Given the description of an element on the screen output the (x, y) to click on. 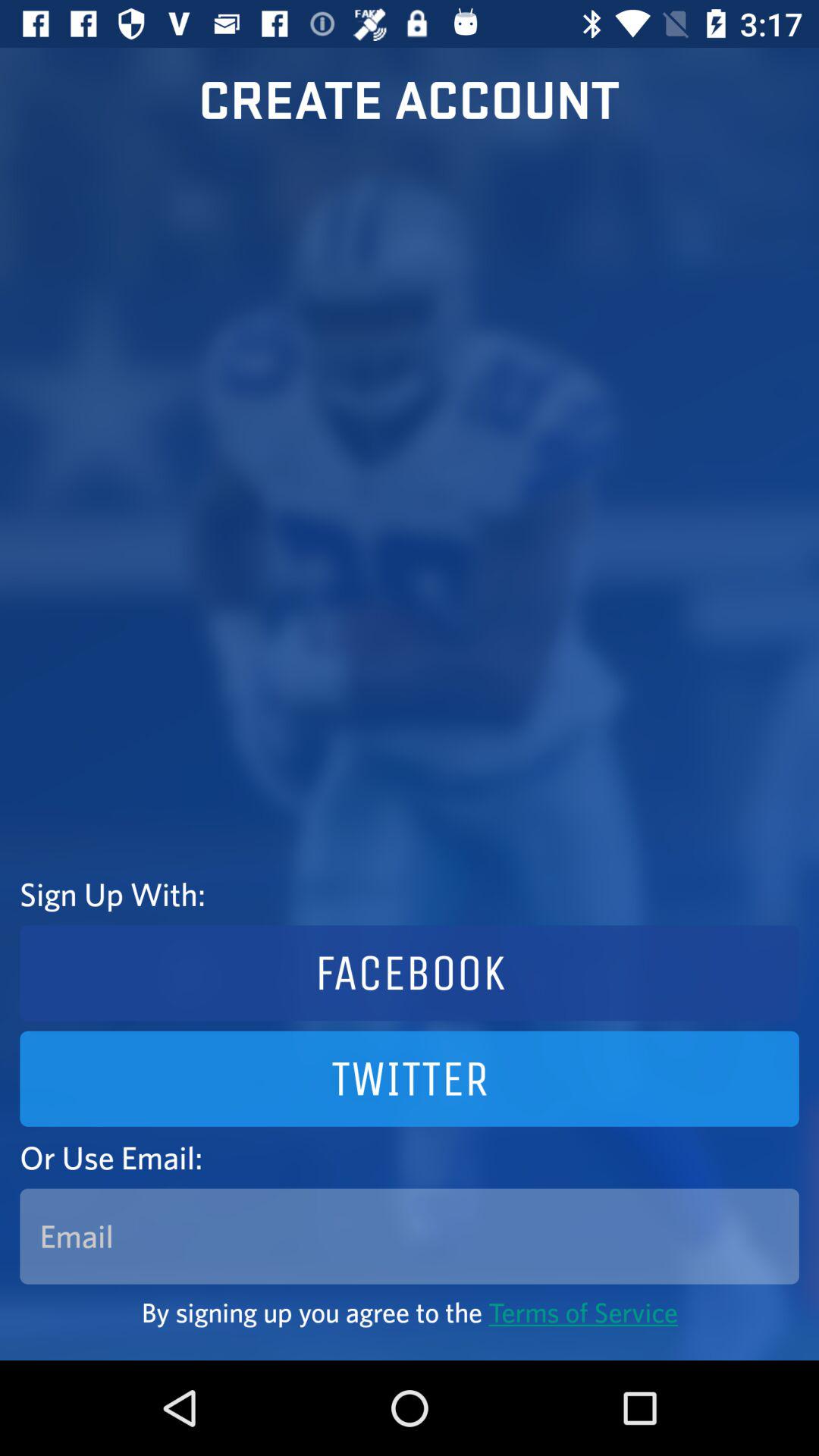
tap the icon below the facebook (409, 1078)
